Given the description of an element on the screen output the (x, y) to click on. 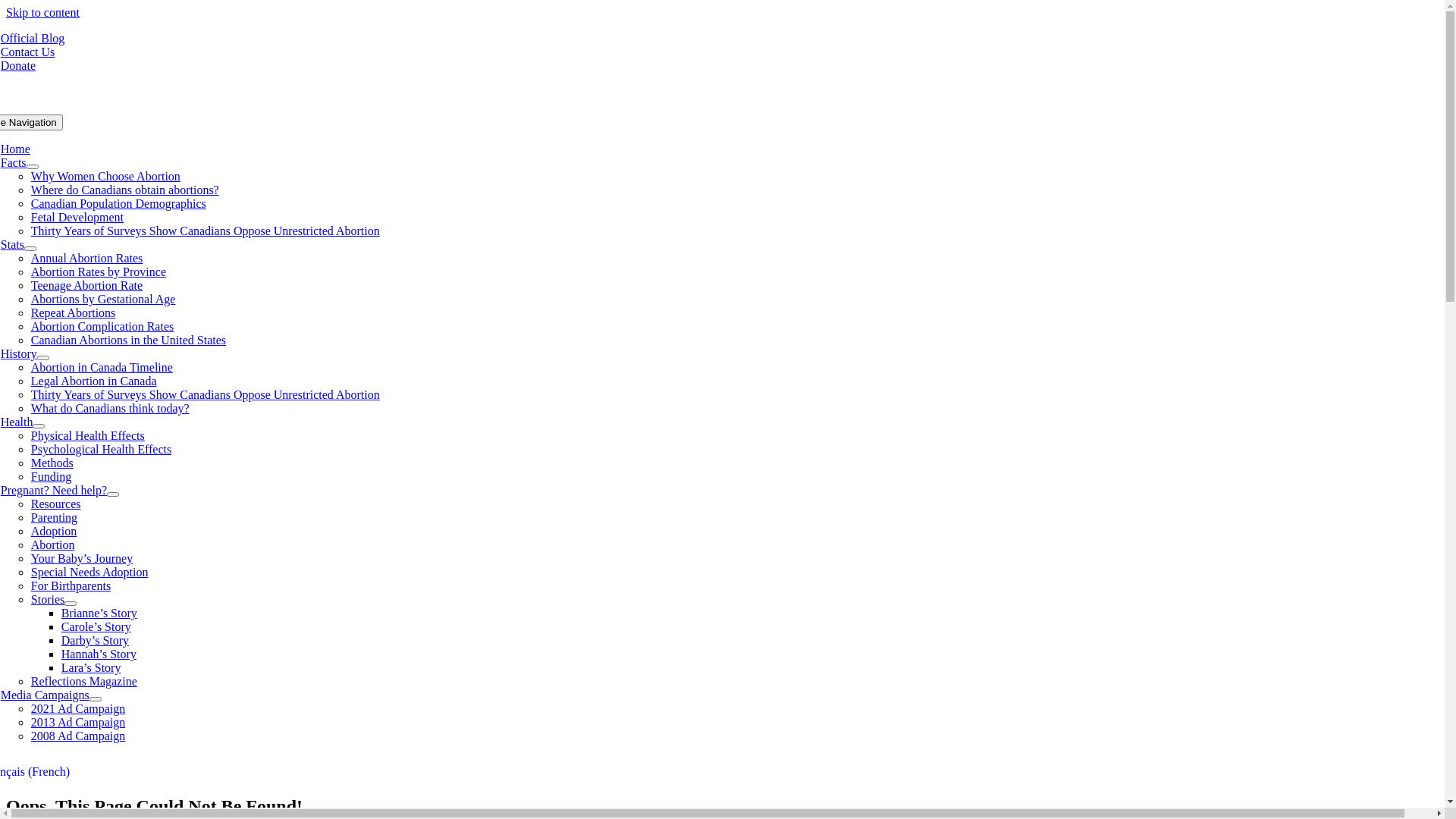
Parenting Element type: text (54, 517)
Health Element type: text (16, 421)
Adoption Element type: text (53, 530)
Teenage Abortion Rate Element type: text (86, 285)
Home Element type: text (15, 148)
Methods Element type: text (52, 462)
Psychological Health Effects Element type: text (101, 448)
Stats Element type: text (12, 244)
Funding Element type: text (51, 476)
What do Canadians think today? Element type: text (110, 407)
Donate Element type: text (17, 65)
Contact Us Element type: text (27, 51)
Abortions by Gestational Age Element type: text (103, 298)
For Birthparents Element type: text (70, 585)
Pregnant? Need help? Element type: text (53, 489)
Abortion Rates by Province Element type: text (98, 271)
Why Women Choose Abortion Element type: text (105, 175)
Abortion Complication Rates Element type: text (102, 326)
Canadian Population Demographics Element type: text (118, 203)
2013 Ad Campaign Element type: text (78, 721)
Stories Element type: text (47, 599)
2021 Ad Campaign Element type: text (78, 708)
Abortion in Canada Timeline Element type: text (101, 366)
Legal Abortion in Canada Element type: text (93, 380)
Skip to content Element type: text (42, 12)
Repeat Abortions Element type: text (73, 312)
Media Campaigns Element type: text (44, 694)
Canadian Abortions in the United States Element type: text (128, 339)
Resources Element type: text (56, 503)
Facts Element type: text (13, 162)
Official Blog Element type: text (32, 37)
Annual Abortion Rates Element type: text (87, 257)
Abortion Element type: text (53, 544)
Reflections Magazine Element type: text (84, 680)
2008 Ad Campaign Element type: text (78, 735)
History Element type: text (18, 353)
Where do Canadians obtain abortions? Element type: text (125, 189)
Physical Health Effects Element type: text (87, 435)
Special Needs Adoption Element type: text (89, 571)
Fetal Development Element type: text (77, 216)
